Given the description of an element on the screen output the (x, y) to click on. 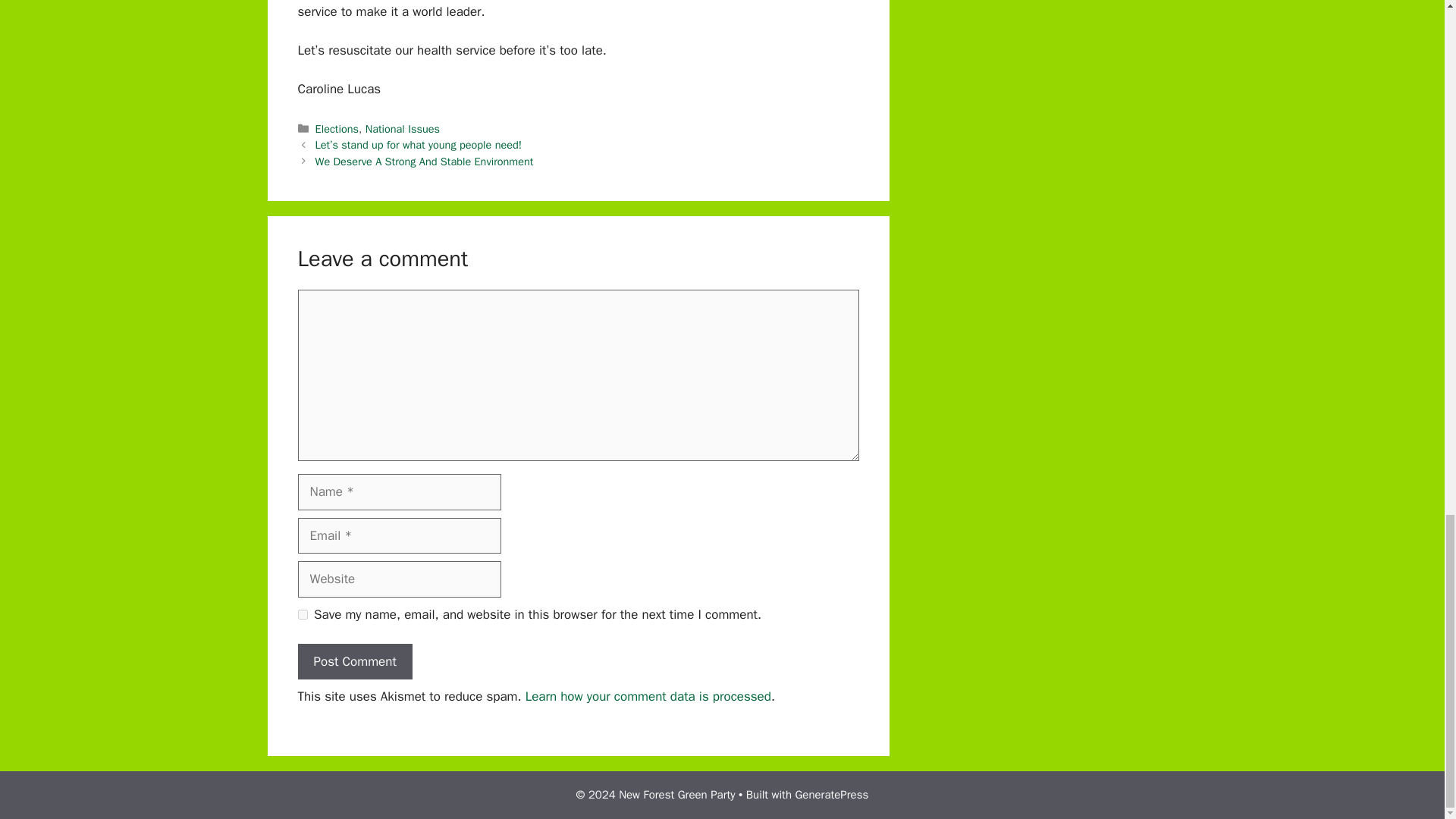
yes (302, 614)
GeneratePress (830, 794)
Post Comment (354, 661)
Elections (336, 128)
National Issues (402, 128)
Next (424, 161)
Learn how your comment data is processed (648, 696)
Post Comment (354, 661)
We Deserve A Strong And Stable Environment (424, 161)
Previous (418, 144)
